Given the description of an element on the screen output the (x, y) to click on. 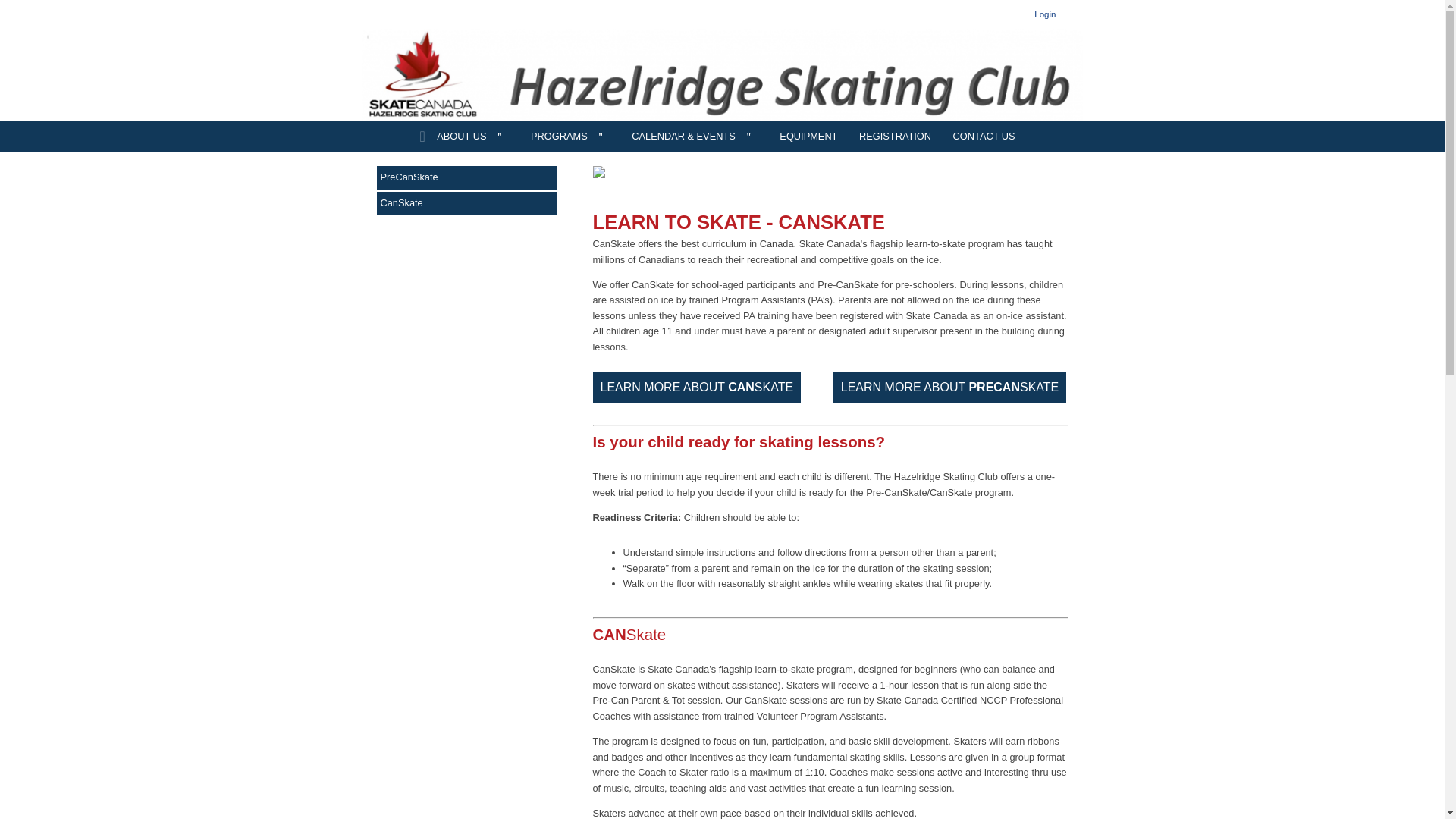
CONTACT US (984, 136)
PROGRAMS (570, 136)
Hazelridge Skating Club powered by Uplifter (722, 74)
PreCanSkate (465, 177)
REGISTRATION (895, 136)
About Us (472, 136)
Programs (570, 136)
EQUIPMENT (808, 136)
ABOUT US (472, 136)
LEARN MORE ABOUT PRECANSKATE (948, 387)
